Given the description of an element on the screen output the (x, y) to click on. 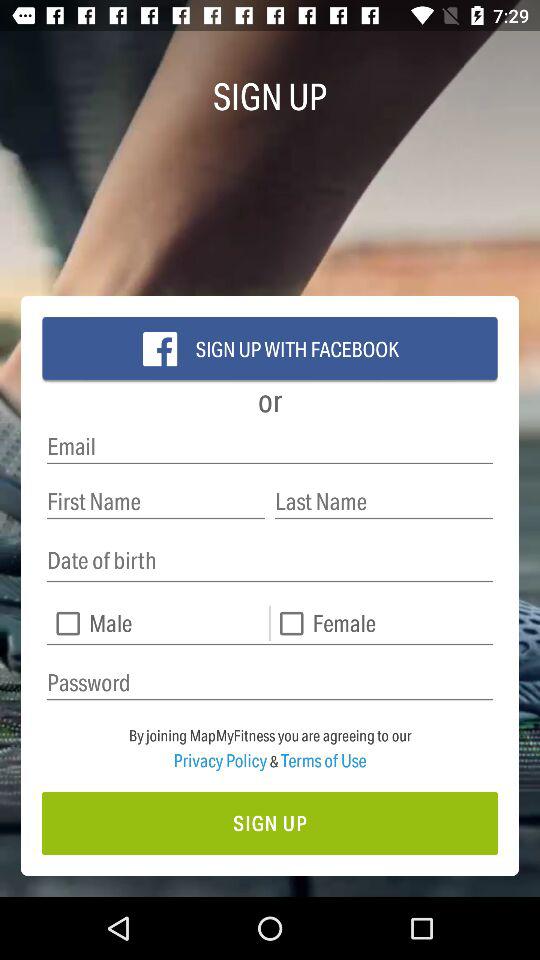
enter the name box (156, 501)
